Given the description of an element on the screen output the (x, y) to click on. 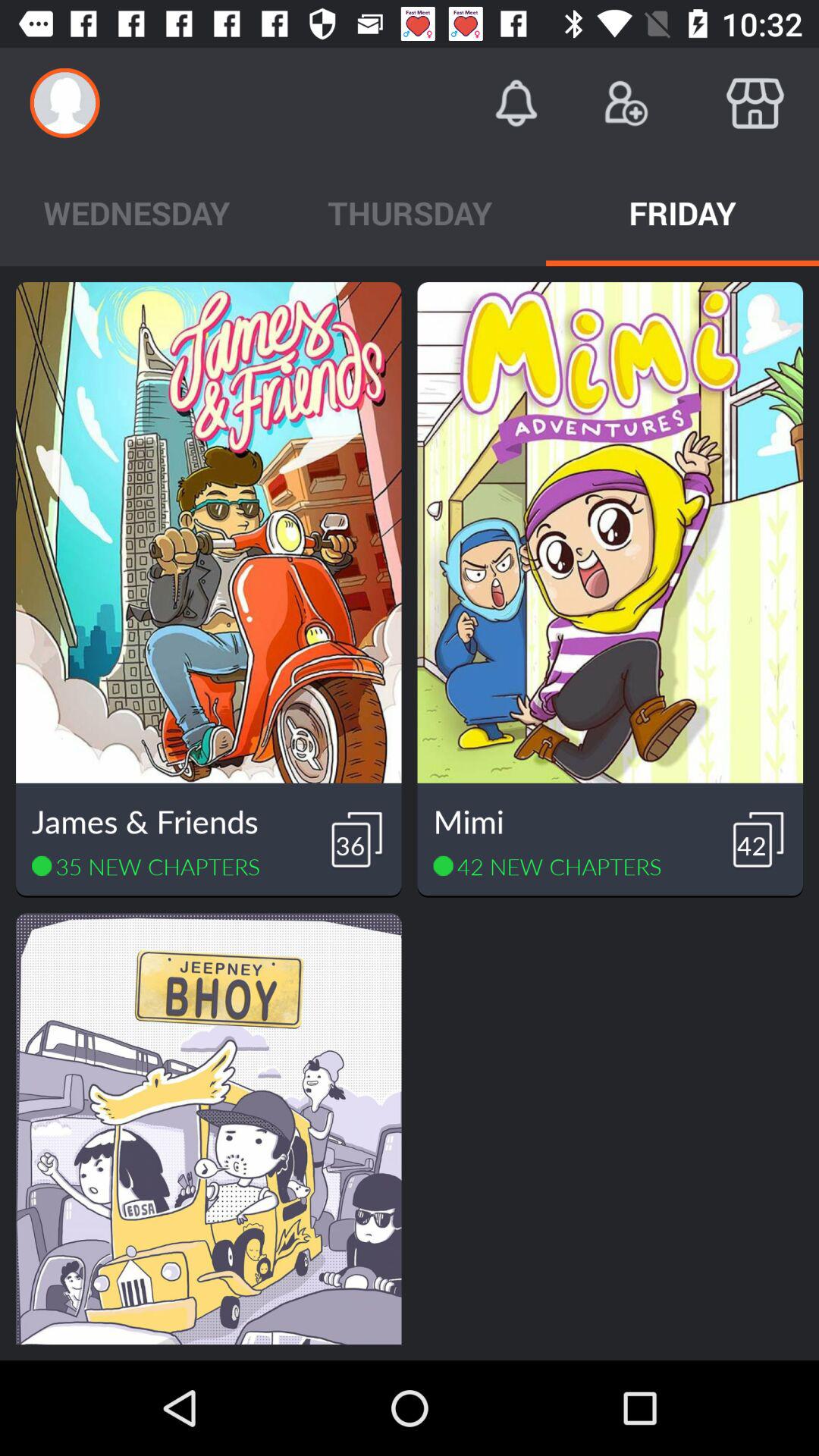
scroll until wednesday  item (136, 212)
